Given the description of an element on the screen output the (x, y) to click on. 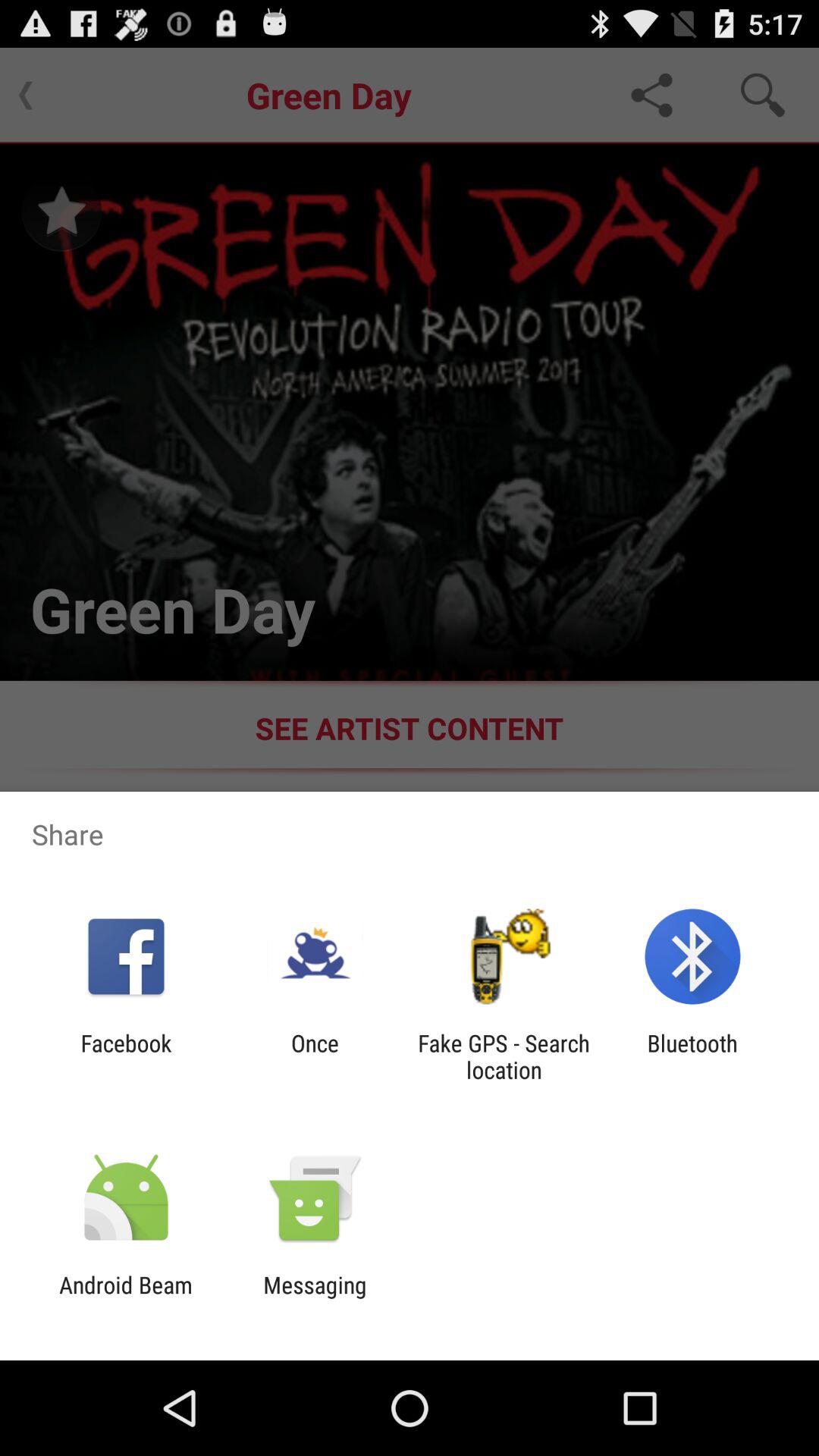
launch messaging app (314, 1298)
